Given the description of an element on the screen output the (x, y) to click on. 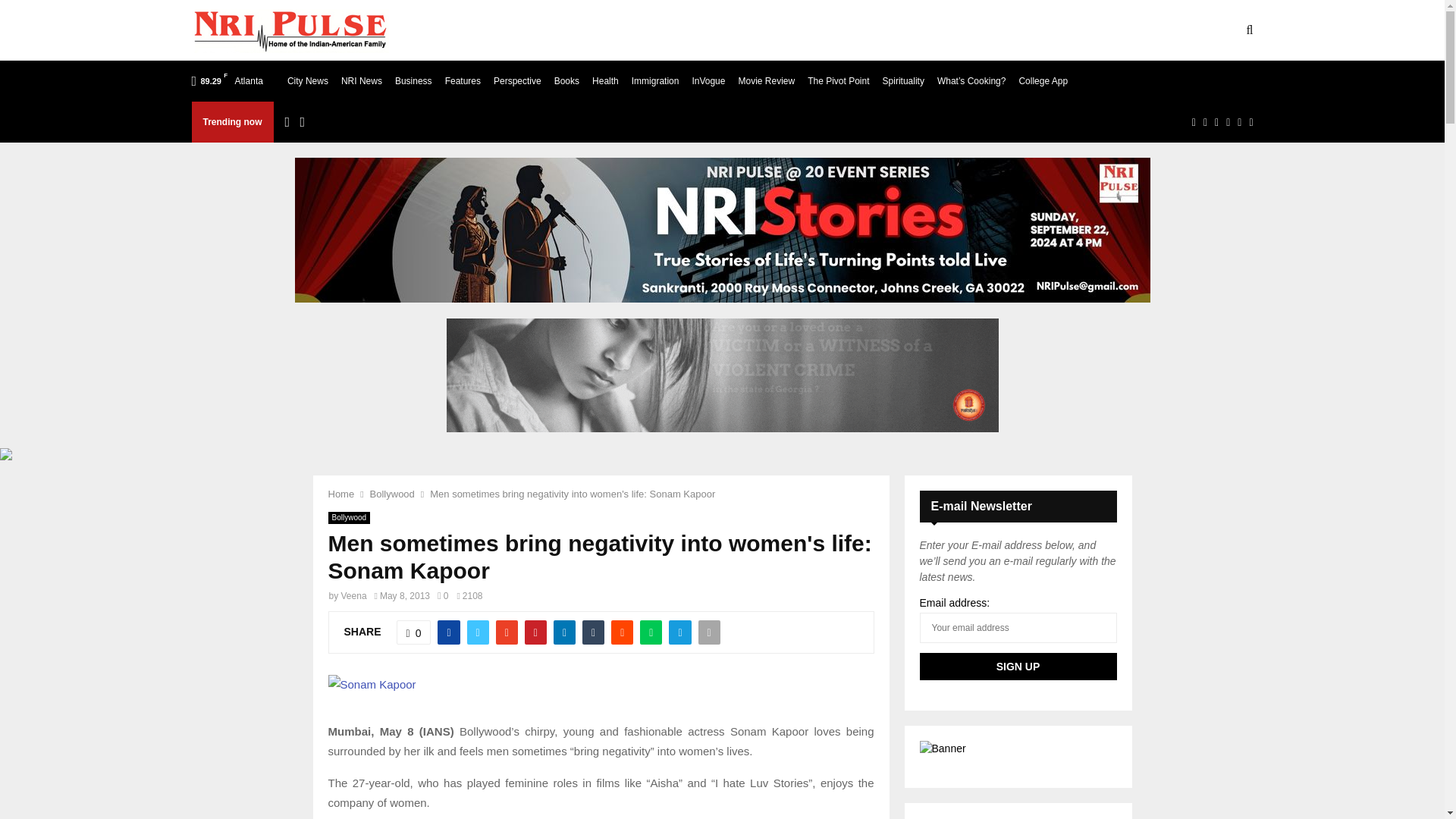
ABOUT US (501, 30)
Linkedin (1216, 121)
City News (307, 80)
PERSPECTIVE (1063, 30)
TERMS OF USE (591, 30)
The Pivot Point (838, 80)
HOME (435, 30)
Linkedin (1216, 121)
PAYMENT (763, 30)
Youtube (1227, 121)
Books (566, 80)
CROWDFUNDERS 2023 (944, 30)
